Given the description of an element on the screen output the (x, y) to click on. 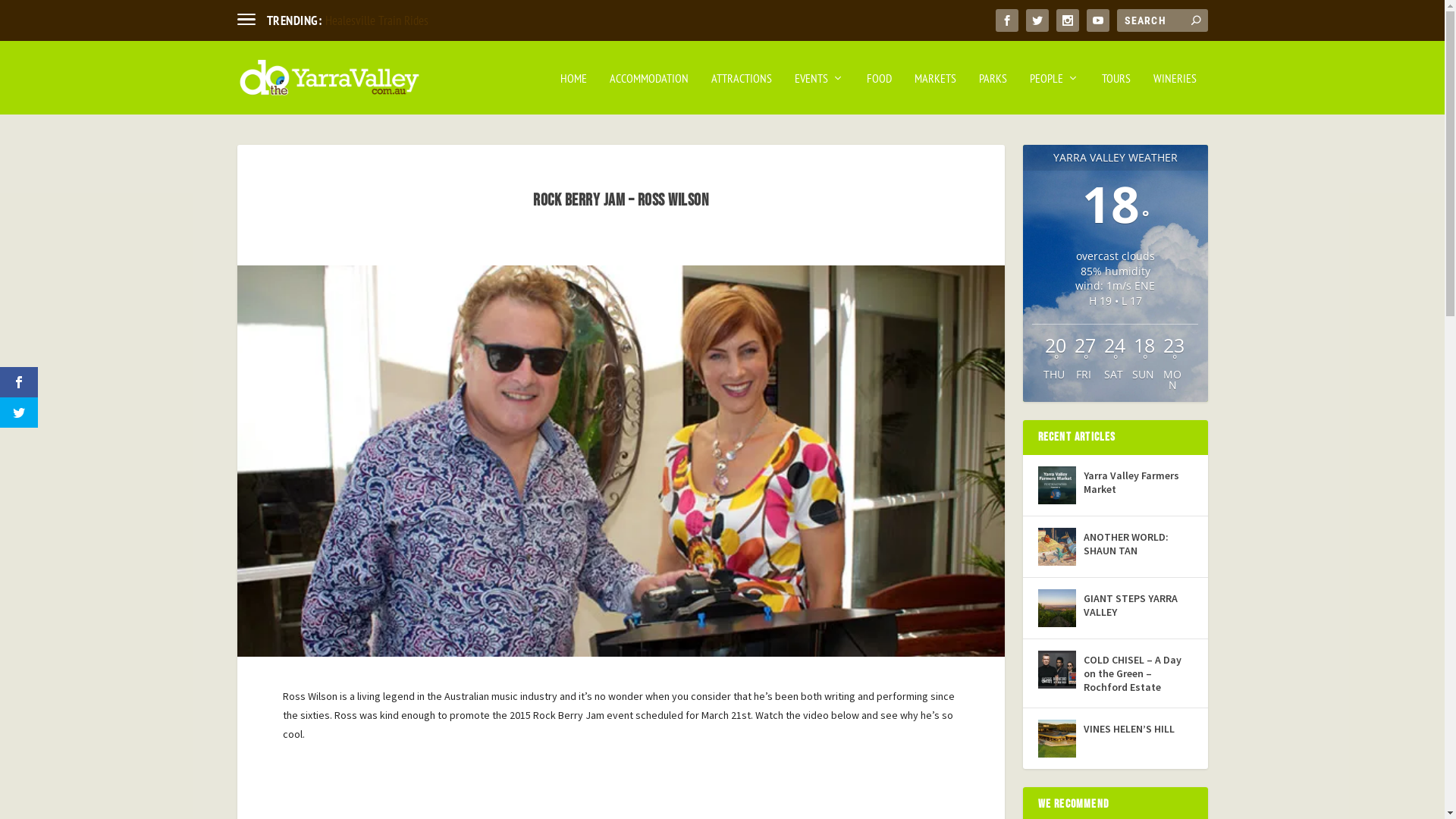
MARKETS Element type: text (935, 93)
EVENTS Element type: text (819, 93)
GIANT STEPS YARRA VALLEY Element type: hover (1056, 608)
PEOPLE Element type: text (1054, 93)
ATTRACTIONS Element type: text (741, 93)
HOME Element type: text (572, 93)
GIANT STEPS YARRA VALLEY Element type: text (1137, 605)
ACCOMMODATION Element type: text (648, 93)
Yarra Valley Farmers Market Element type: hover (1056, 485)
PARKS Element type: text (992, 93)
FOOD Element type: text (878, 93)
TOURS Element type: text (1115, 93)
Search for: Element type: hover (1161, 20)
WINERIES Element type: text (1173, 93)
Yarra Valley Farmers Market Element type: text (1137, 482)
ANOTHER WORLD: SHAUN TAN Element type: hover (1056, 546)
ANOTHER WORLD: SHAUN TAN Element type: text (1137, 543)
WARBURTON RAINFOREST GALLERY Element type: text (404, 20)
